Given the description of an element on the screen output the (x, y) to click on. 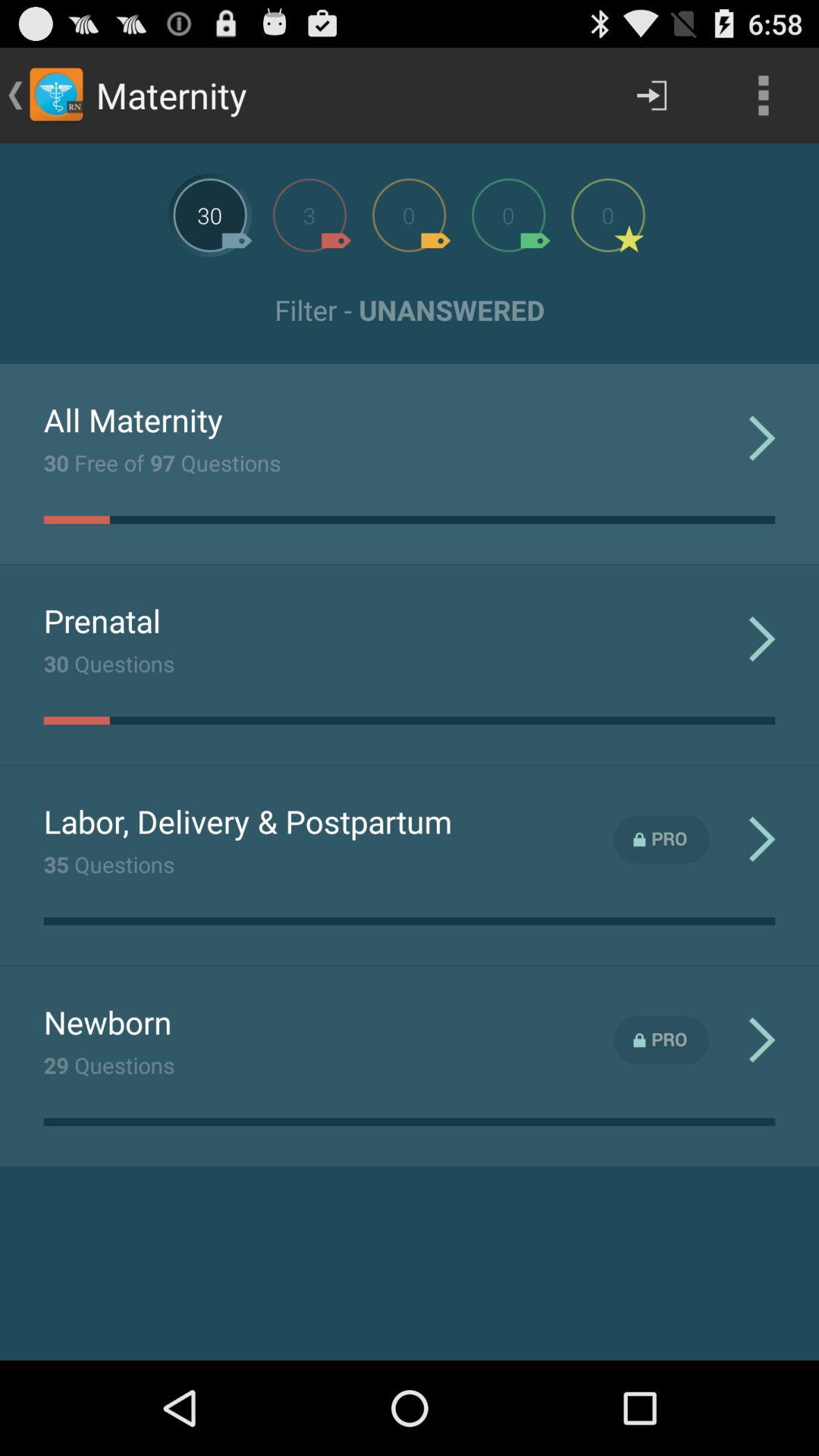
selects difficulty level (309, 215)
